Given the description of an element on the screen output the (x, y) to click on. 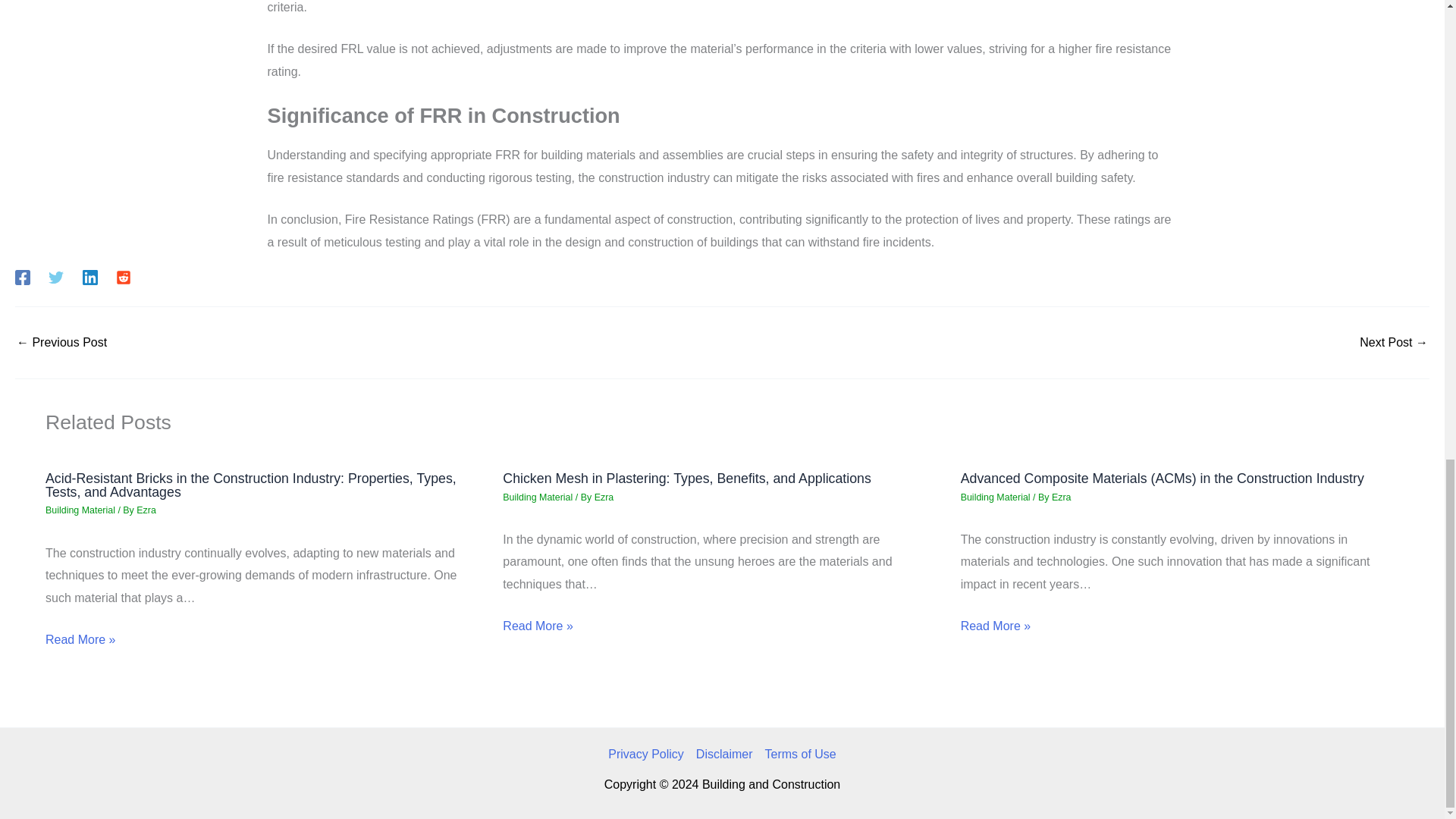
View all posts by Ezra (145, 510)
View all posts by Ezra (1061, 497)
View all posts by Ezra (604, 497)
